Given the description of an element on the screen output the (x, y) to click on. 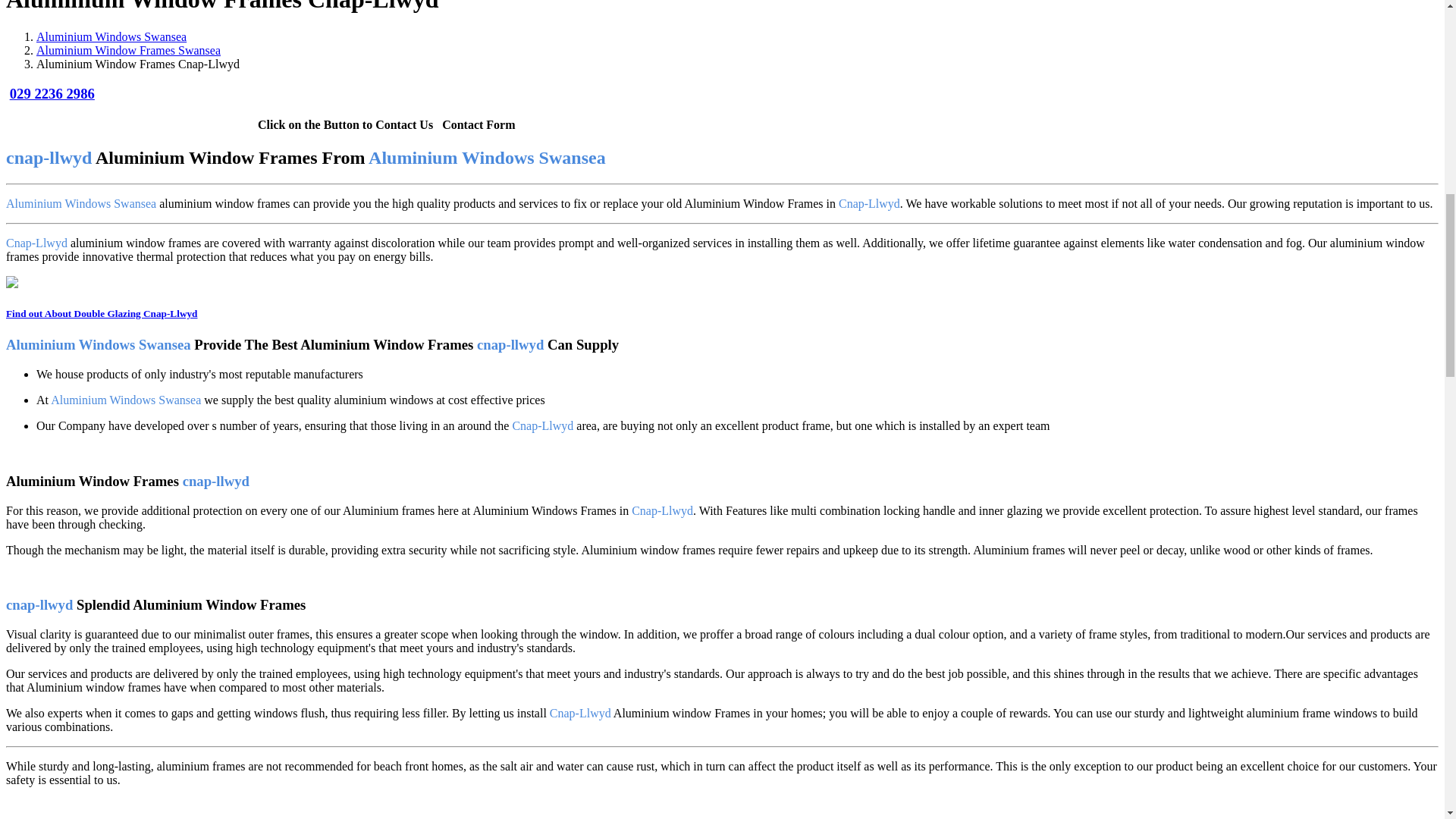
Aluminium Window Frames Swansea (128, 50)
029 2236 2986 (52, 93)
Aluminium Windows Swansea (111, 36)
Contact Form (478, 124)
